Given the description of an element on the screen output the (x, y) to click on. 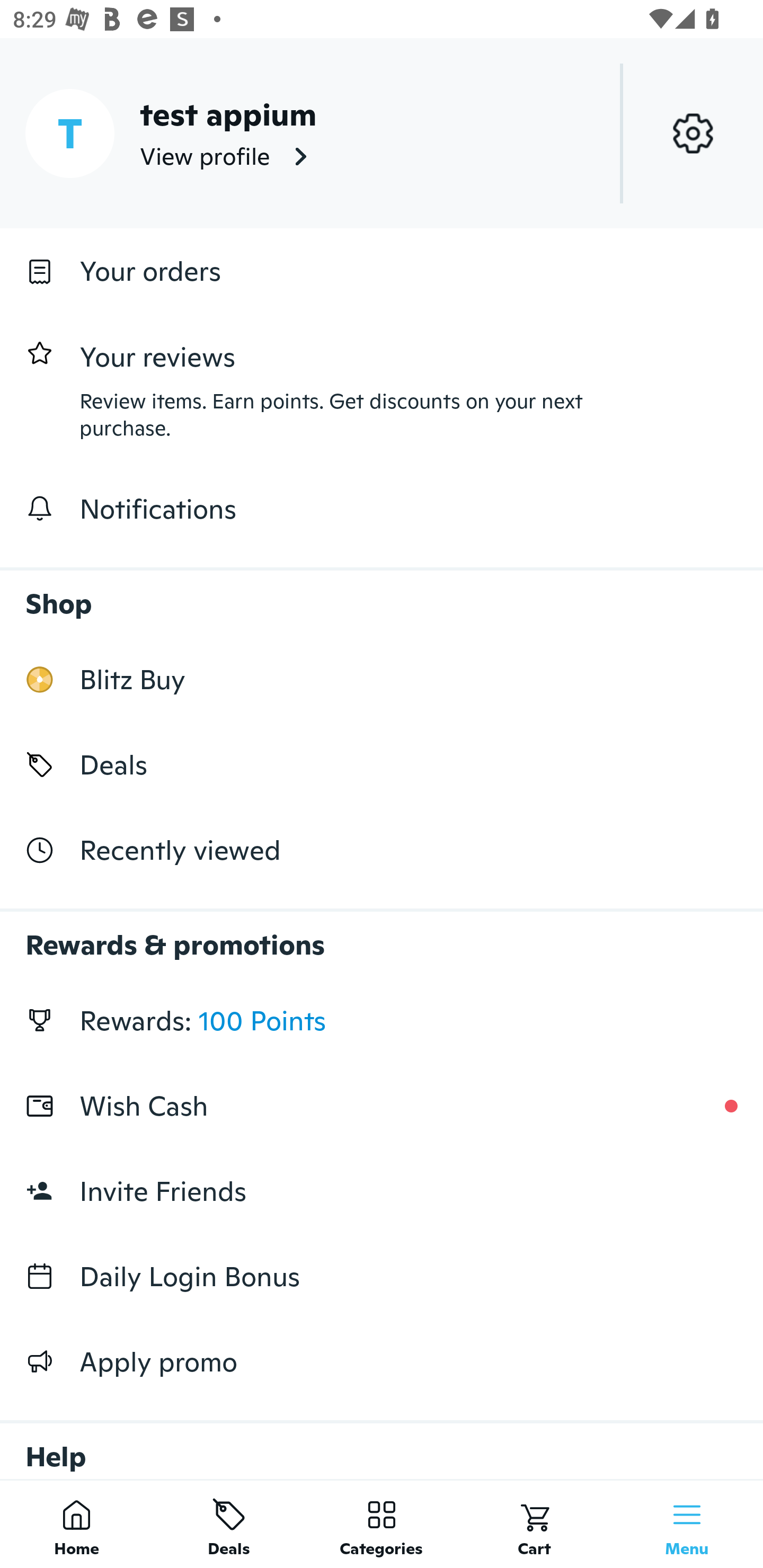
T test appium View profile (381, 132)
Your orders (381, 270)
Notifications (381, 508)
Shop (381, 593)
Blitz Buy (381, 679)
Deals (381, 764)
Recently viewed (381, 850)
Rewards & promotions (381, 935)
Rewards: 100 Points (381, 1020)
Wish Cash (381, 1106)
Invite Friends (381, 1190)
Daily Login Bonus (381, 1277)
Apply promo (381, 1361)
Help (381, 1441)
Home (76, 1523)
Deals (228, 1523)
Categories (381, 1523)
Cart (533, 1523)
Menu (686, 1523)
